Given the description of an element on the screen output the (x, y) to click on. 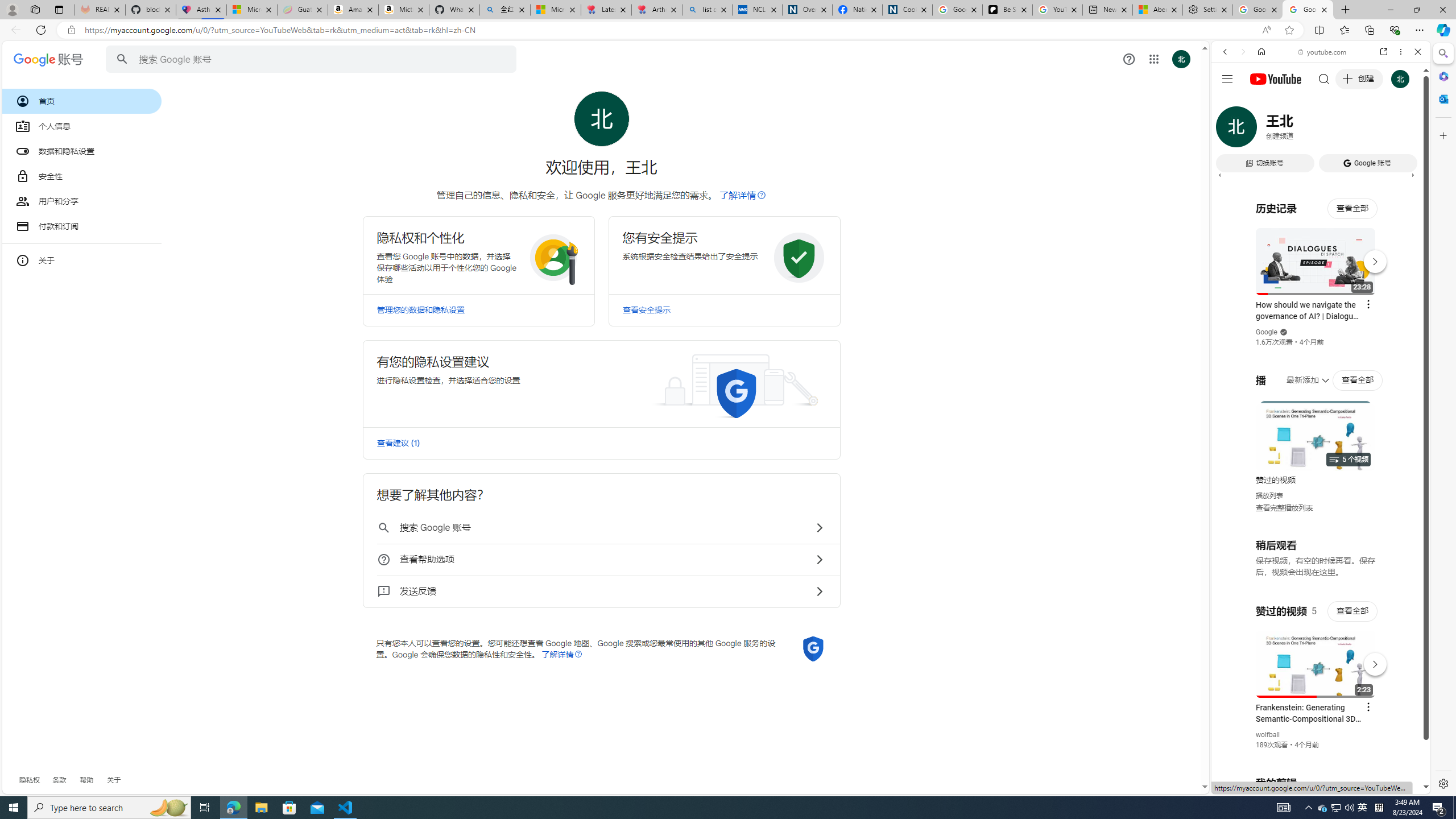
Music (1320, 309)
Aberdeen, Hong Kong SAR hourly forecast | Microsoft Weather (1158, 9)
